Given the description of an element on the screen output the (x, y) to click on. 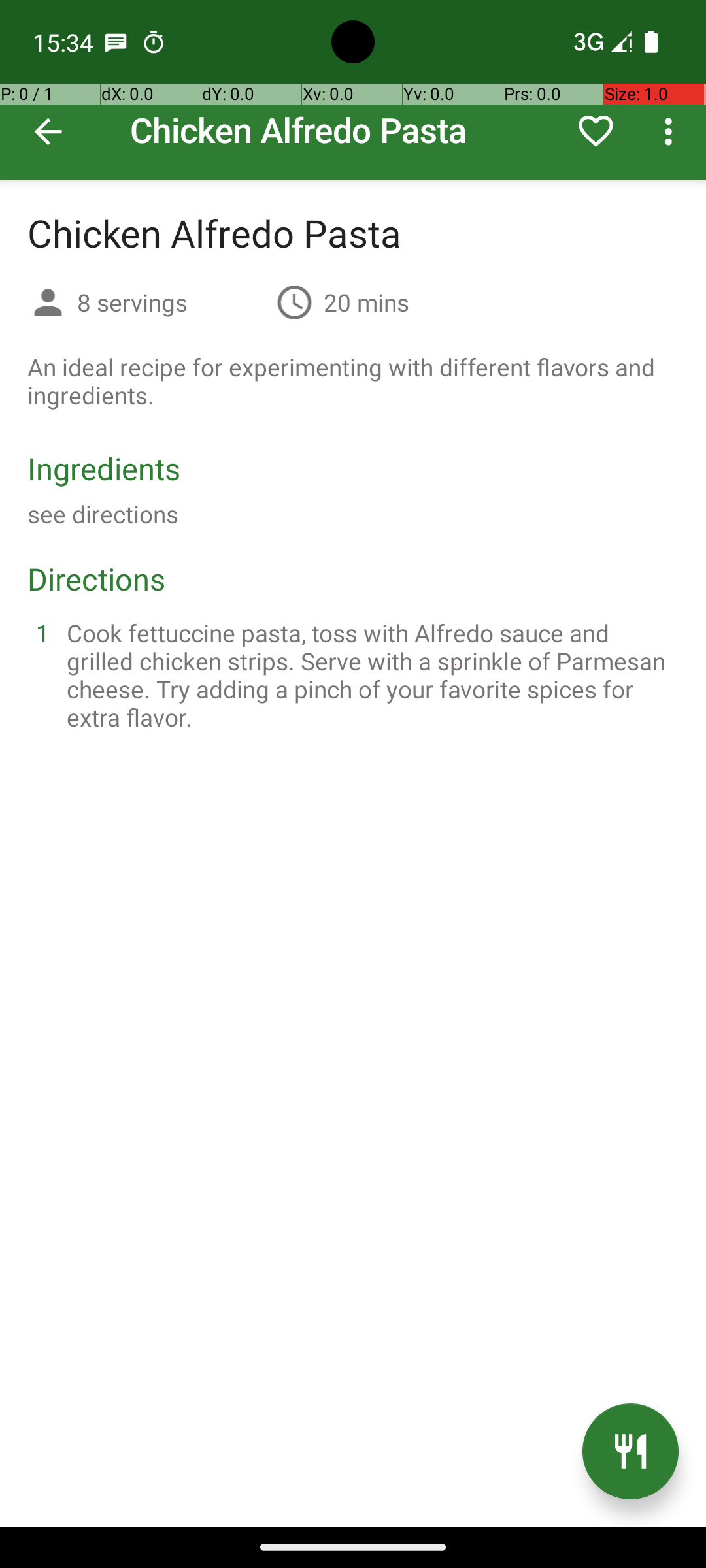
Cook fettuccine pasta, toss with Alfredo sauce and grilled chicken strips. Serve with a sprinkle of Parmesan cheese. Try adding a pinch of your favorite spices for extra flavor. Element type: android.widget.TextView (368, 674)
